Given the description of an element on the screen output the (x, y) to click on. 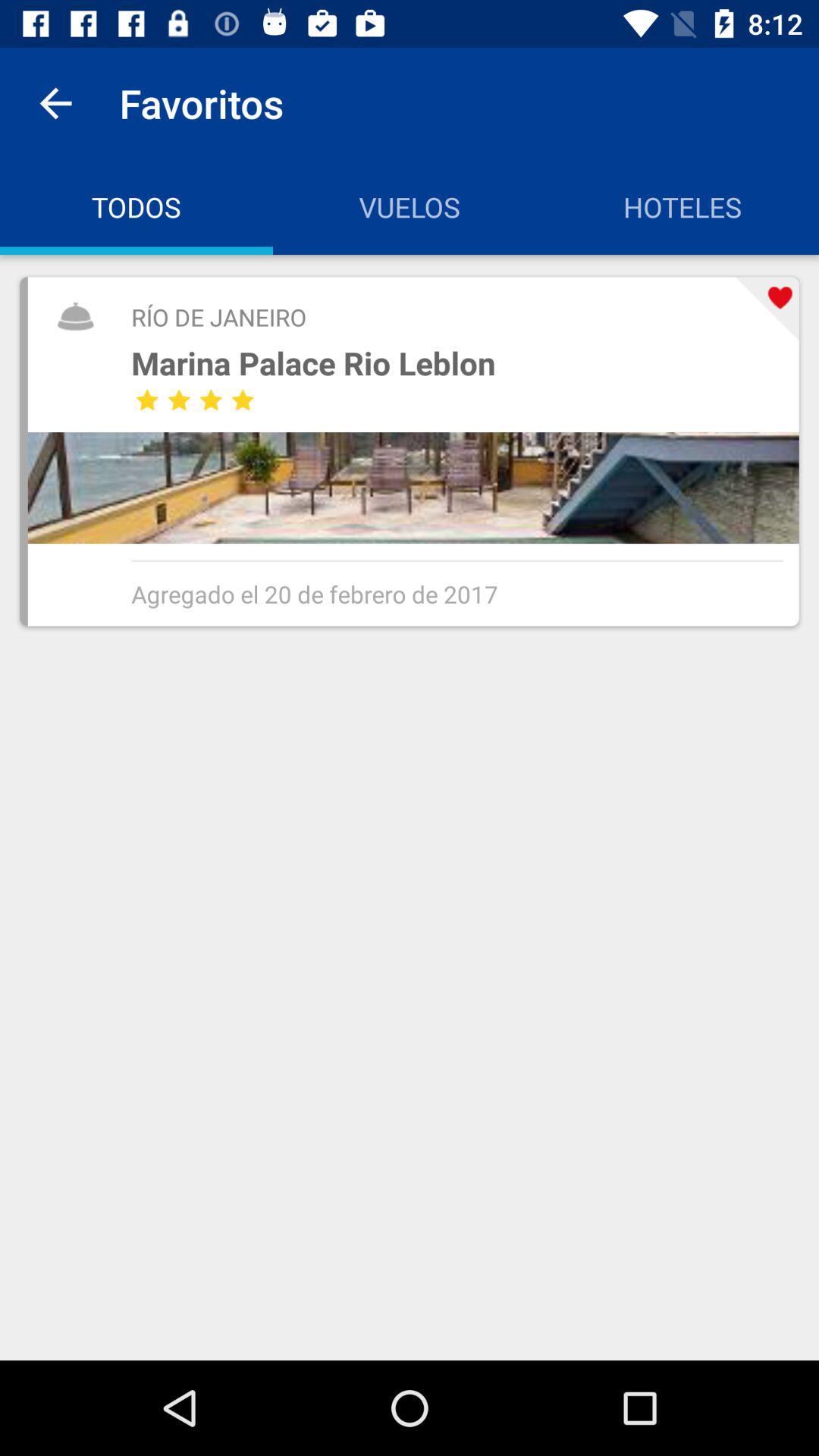
launch icon to the right of the marina palace rio (767, 308)
